Given the description of an element on the screen output the (x, y) to click on. 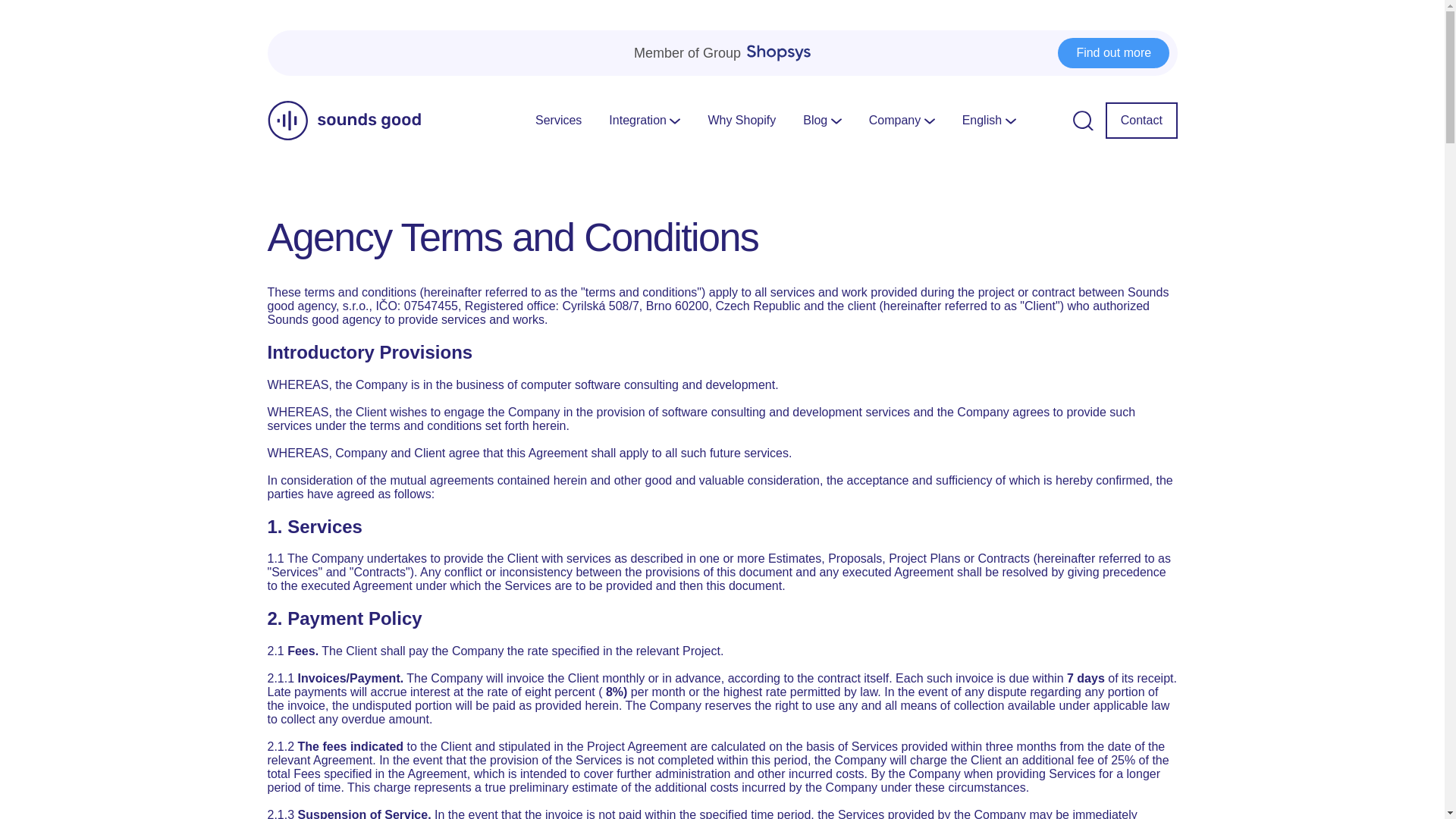
Contact (1140, 120)
Why Shopify (741, 120)
English (989, 120)
Blog (822, 120)
Find out more (1113, 52)
Integration (643, 120)
Find out more (1113, 52)
Services (557, 120)
Company (901, 120)
Contact (1140, 120)
